Given the description of an element on the screen output the (x, y) to click on. 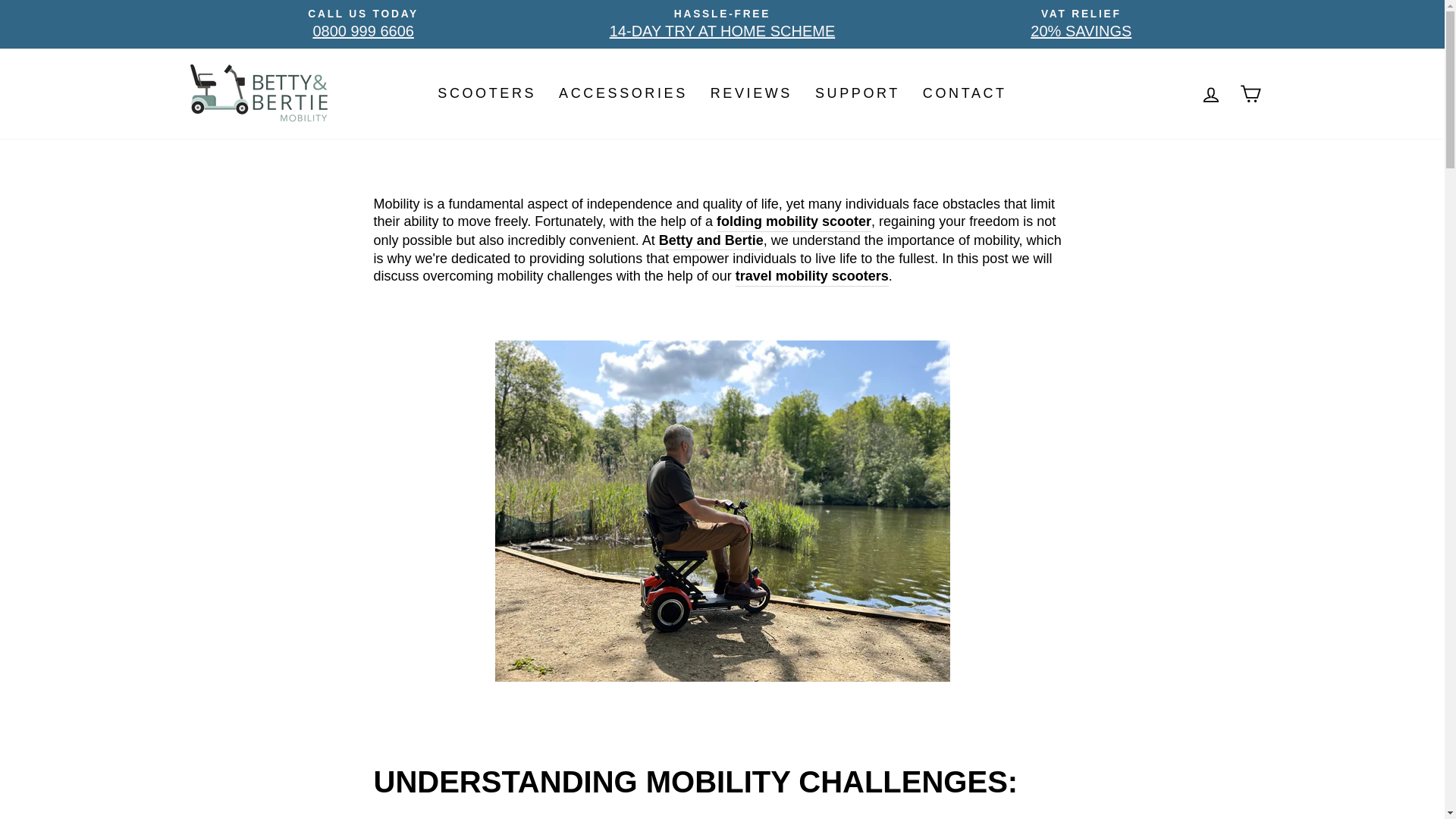
LOG IN (1210, 92)
SUPPORT (857, 93)
CONTACT (964, 93)
REVIEWS (362, 23)
ACCESSORIES (722, 23)
SCOOTERS (750, 93)
